Given the description of an element on the screen output the (x, y) to click on. 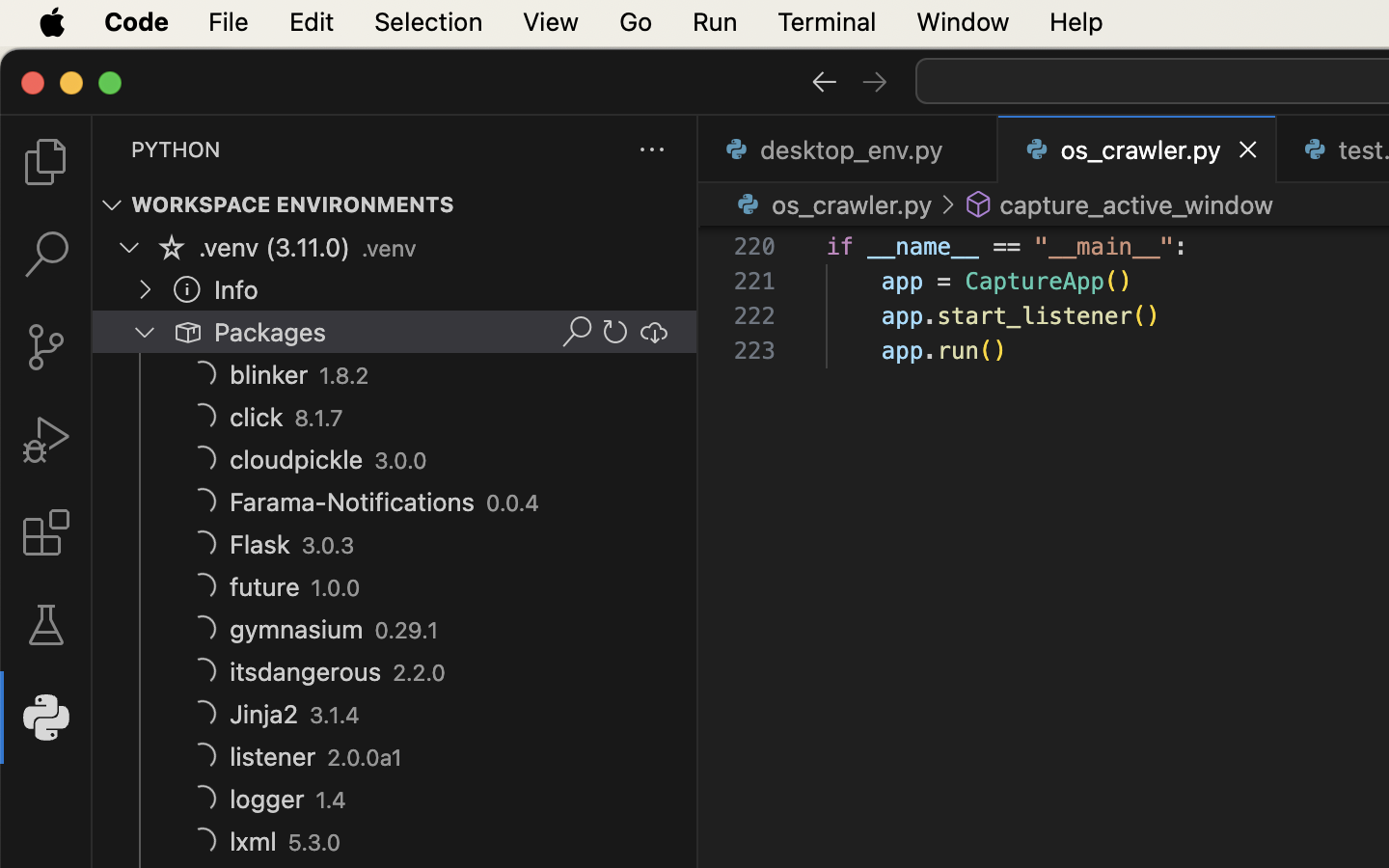
0  Element type: AXRadioButton (46, 439)
0  Element type: AXRadioButton (46, 346)
gymnasium Element type: AXStaticText (296, 629)
capture_active_window Element type: AXGroup (1136, 204)
cloudpickle Element type: AXStaticText (296, 459)
